Given the description of an element on the screen output the (x, y) to click on. 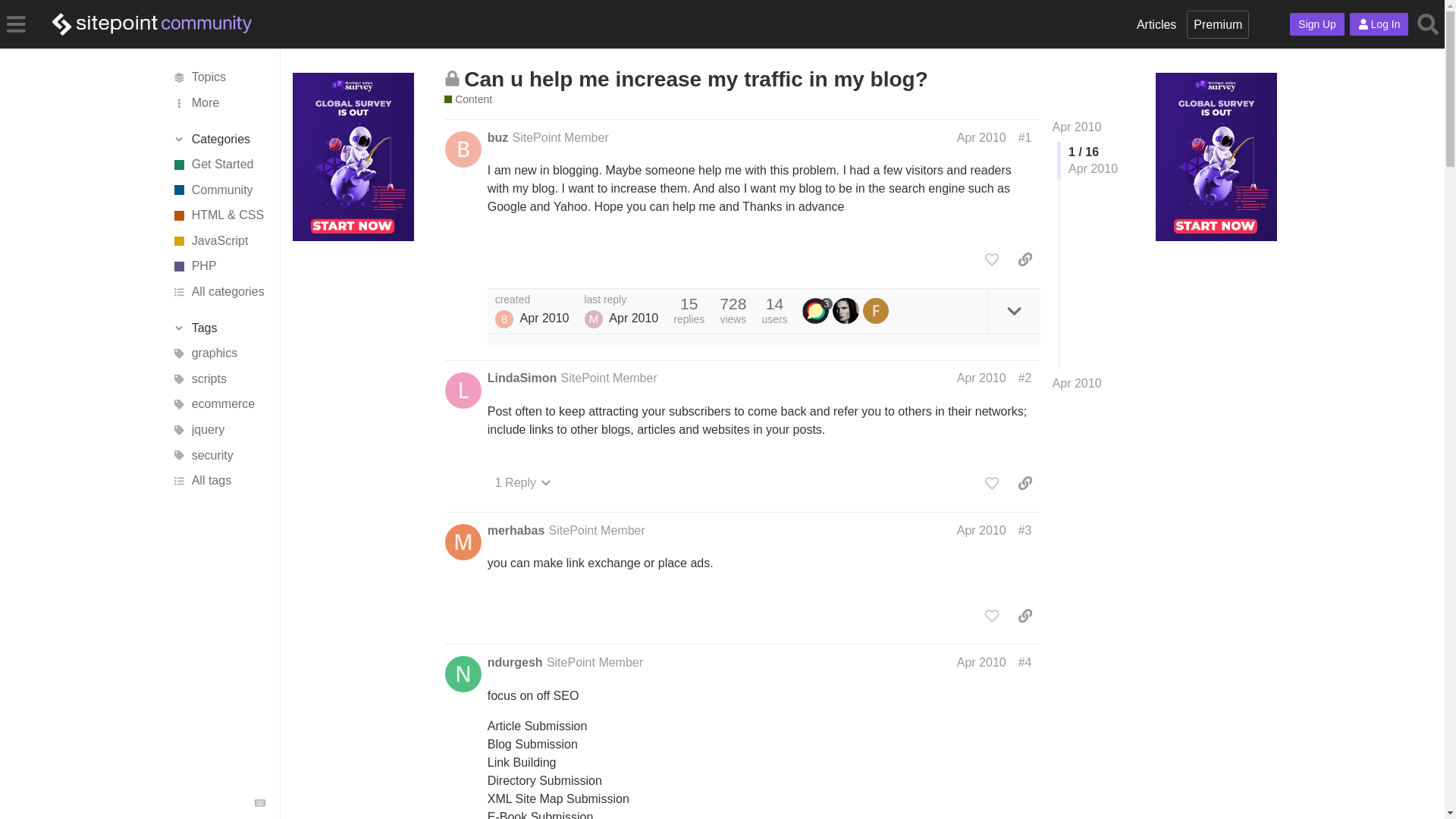
Get Started (217, 164)
ecommerce (217, 404)
security (217, 455)
More (217, 103)
Topics (217, 77)
Sidebar (16, 23)
Articles (1156, 24)
scripts (217, 379)
All tags (217, 481)
3 (817, 310)
Toggle section (217, 328)
jquery (217, 429)
Categories (217, 139)
Toggle section (217, 139)
JavaScript (217, 240)
